Given the description of an element on the screen output the (x, y) to click on. 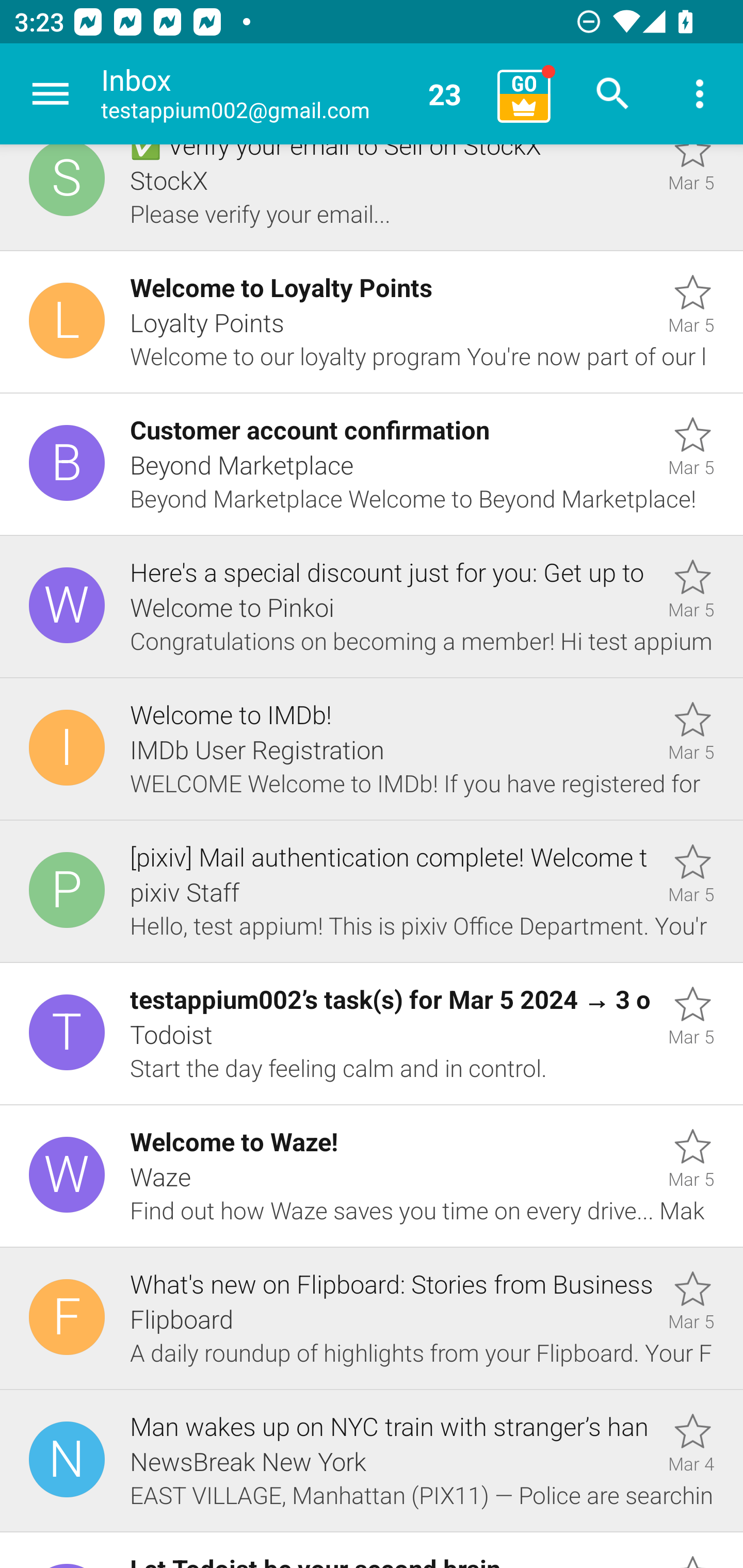
Navigate up (50, 93)
Inbox testappium002@gmail.com 23 (291, 93)
Search (612, 93)
More options (699, 93)
